Given the description of an element on the screen output the (x, y) to click on. 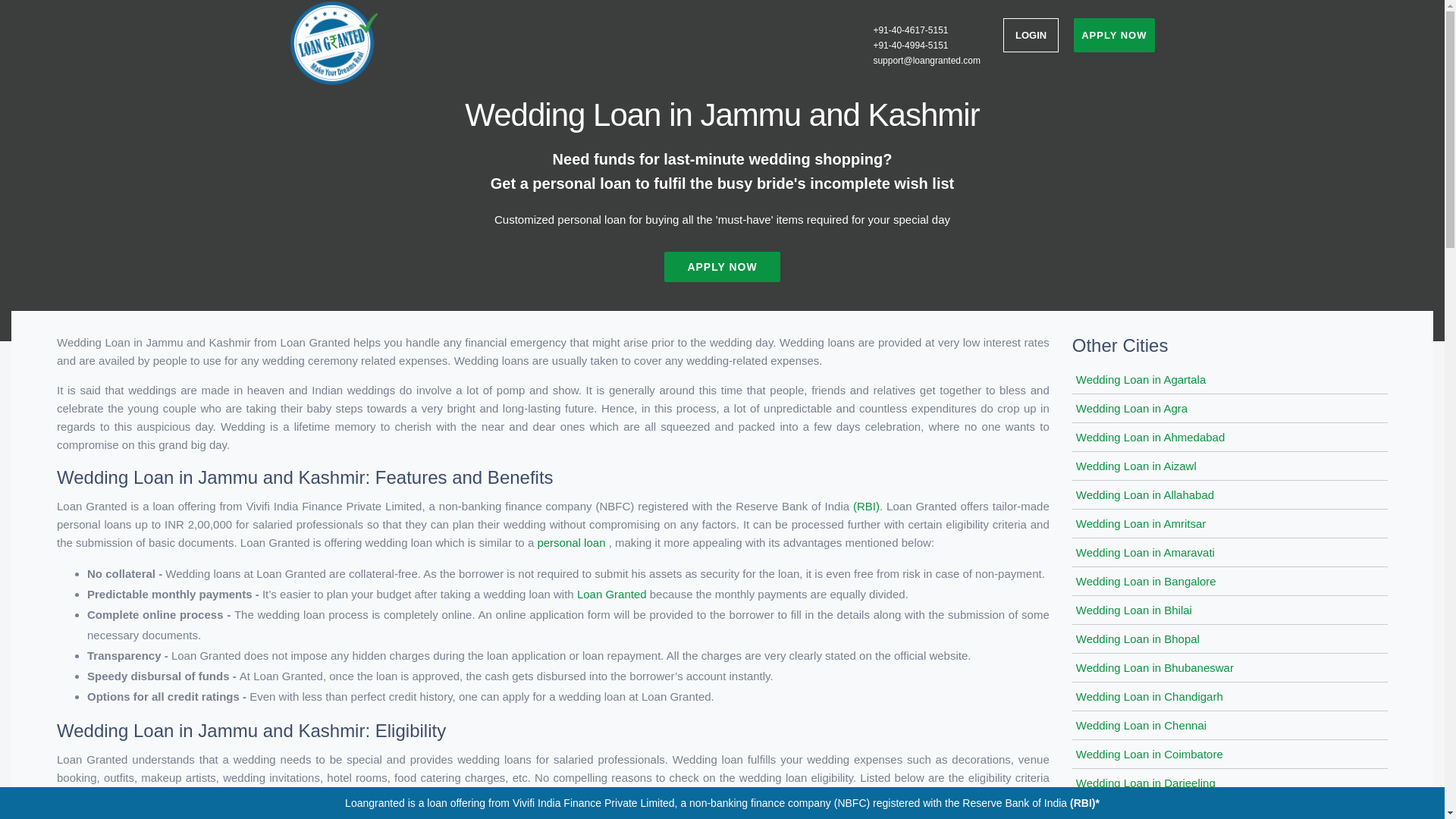
LOGIN (1030, 35)
Wedding Loan in Bhilai (1133, 609)
Loan Granted (612, 594)
Wedding Loan in Amaravati (1144, 552)
Wedding Loan in Aizawl (1135, 465)
Wedding Loan in Chandigarh (1149, 696)
Wedding Loan in Chennai (1141, 725)
APPLY NOW (720, 266)
Wedding Loan in Coimbatore (1149, 753)
Wedding Loan in Darjeeling (1145, 782)
Wedding Loan in Bhubaneswar (1154, 667)
Wedding Loan in Allahabad (1144, 494)
Wedding Loan in Amritsar (1140, 522)
Wedding Loan in Agartala (1141, 379)
Wedding Loan in Bangalore (1145, 581)
